Given the description of an element on the screen output the (x, y) to click on. 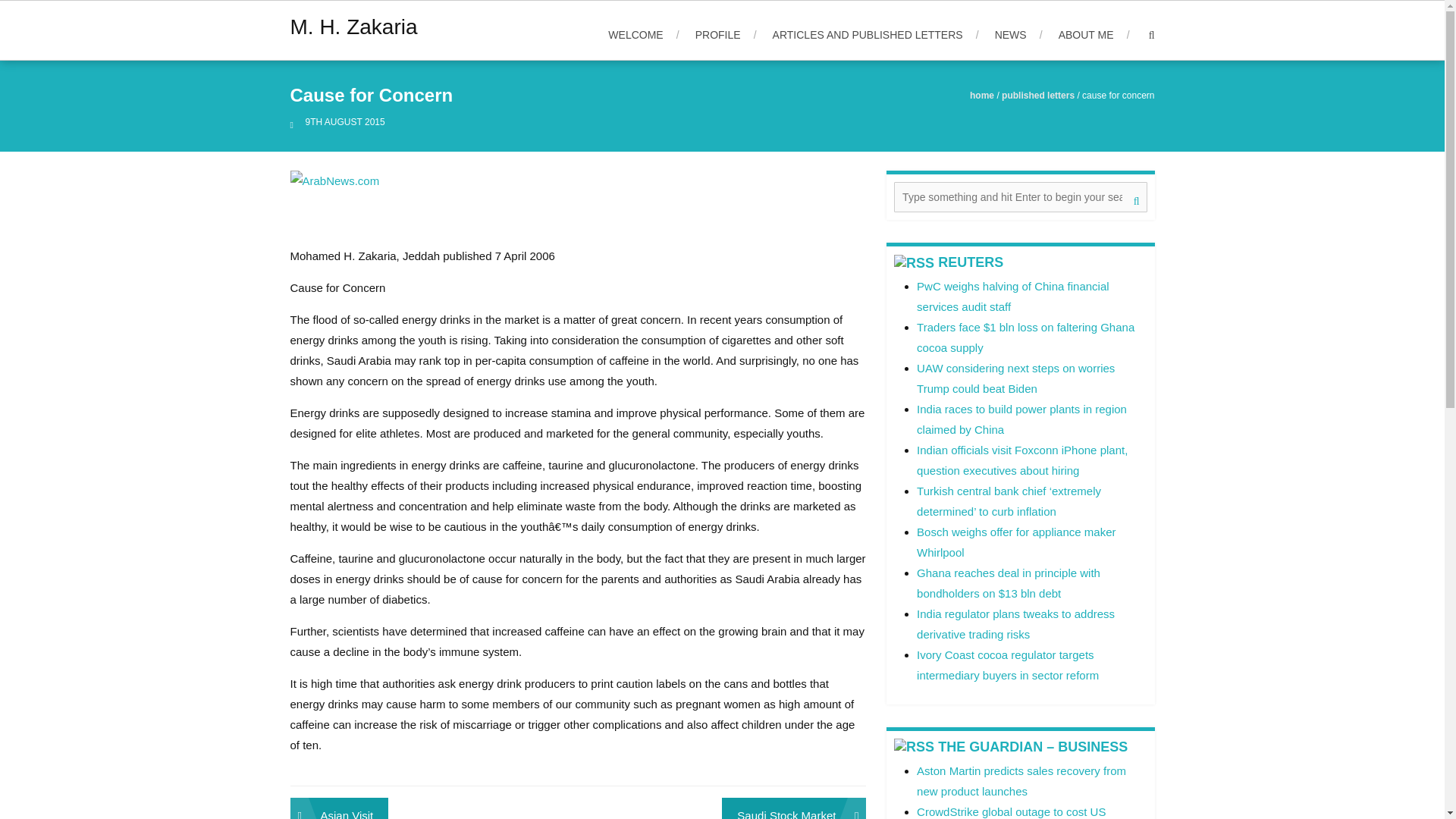
REUTERS (970, 262)
M. H. Zakaria (352, 27)
home (981, 95)
ARTICLES AND PUBLISHED LETTERS (875, 35)
ABOUT ME (1093, 35)
PROFILE (726, 35)
India races to build power plants in region claimed by China (1021, 418)
9TH AUGUST 2015 (343, 122)
UAW considering next steps on worries Trump could beat Biden (1016, 377)
Bosch weighs offer for appliance maker Whirlpool (1016, 541)
published letters (1037, 95)
Asian Visit (338, 808)
